Given the description of an element on the screen output the (x, y) to click on. 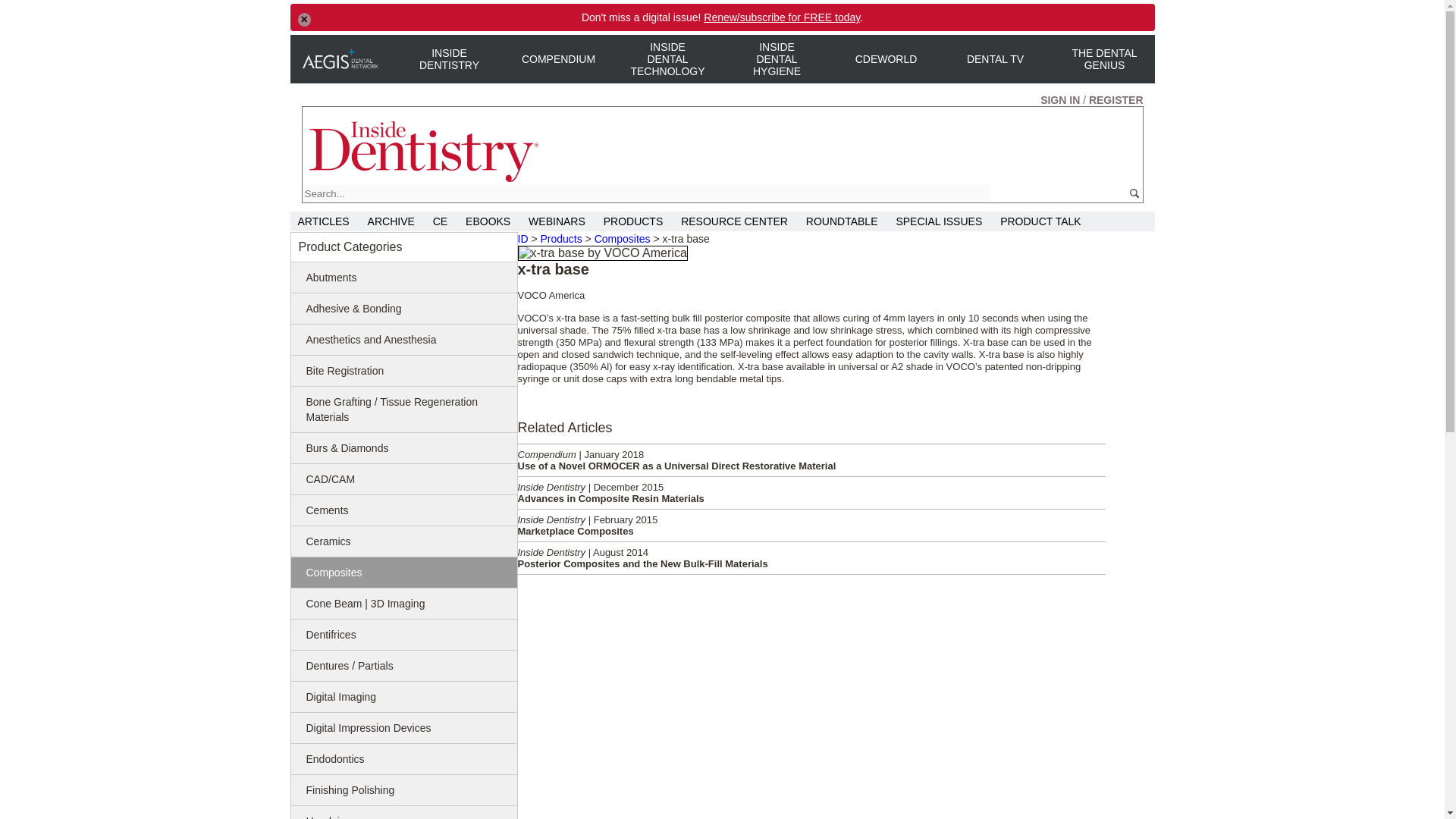
x-tra base by VOCO America (601, 253)
